Given the description of an element on the screen output the (x, y) to click on. 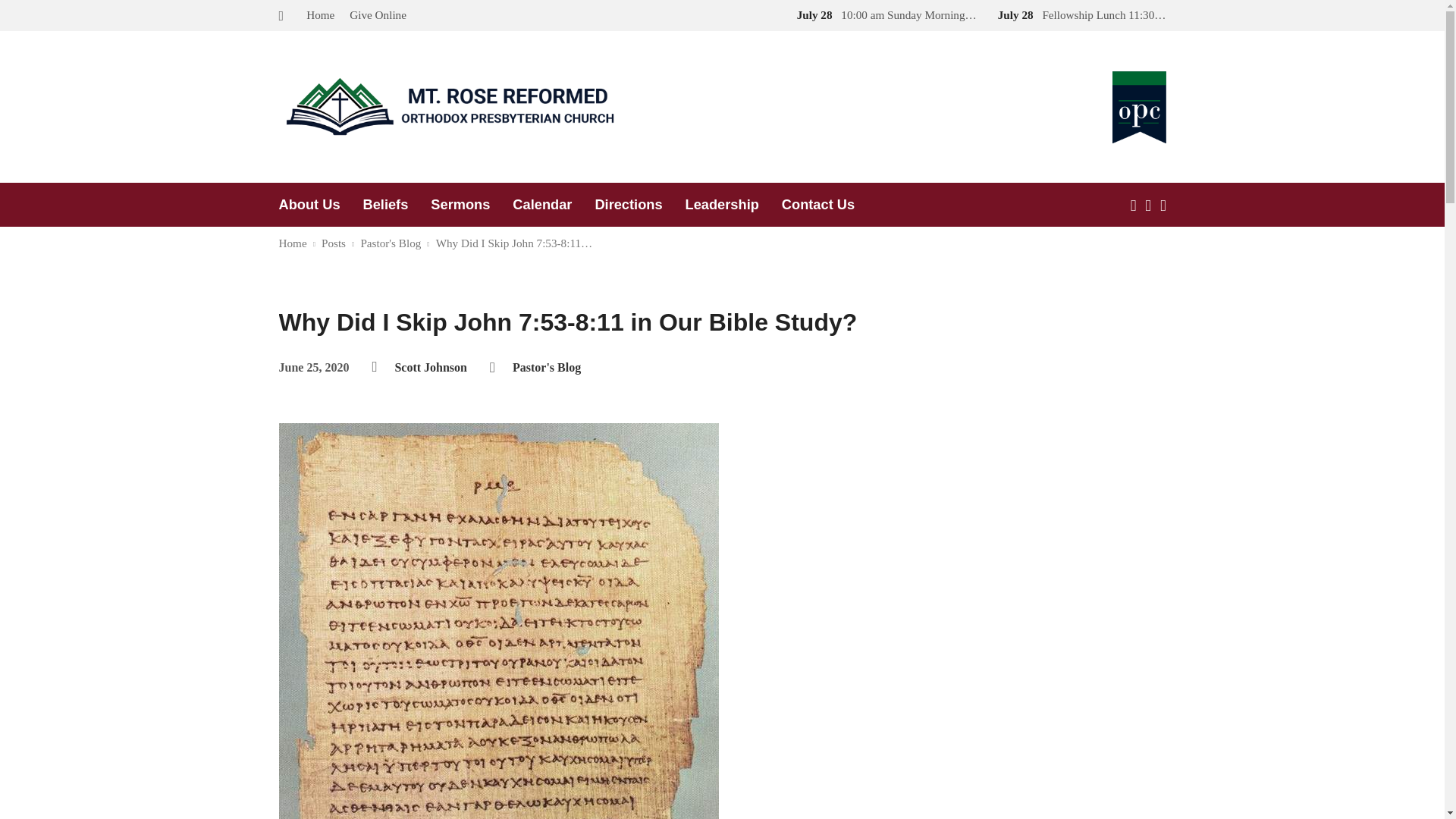
Scott Johnson (430, 367)
Contact Us (817, 204)
Posts (333, 242)
Pastor's Blog (389, 242)
Pastor's Blog (546, 367)
10:00 am Sunday Morning Worship (883, 14)
Fellowship Lunch 11:30 am (1078, 14)
About Us (309, 204)
Leadership (721, 204)
Give Online (377, 14)
Beliefs (385, 204)
Sermons (459, 204)
Directions (628, 204)
Home (319, 14)
Calendar (542, 204)
